Given the description of an element on the screen output the (x, y) to click on. 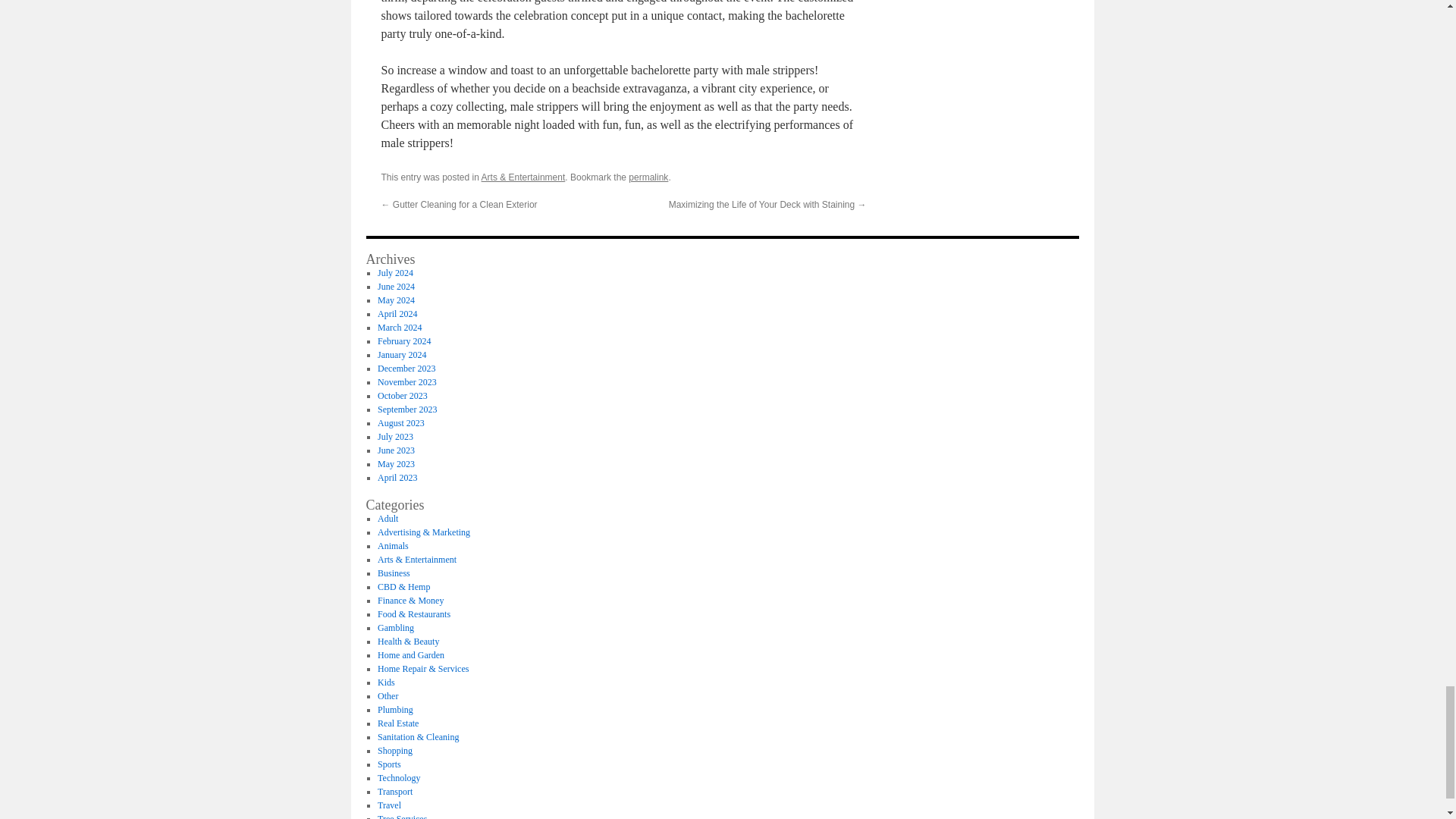
September 2023 (406, 409)
April 2023 (396, 477)
July 2023 (395, 436)
permalink (648, 176)
June 2023 (395, 450)
Animals (393, 545)
Adult (387, 518)
May 2023 (395, 463)
August 2023 (401, 422)
December 2023 (406, 368)
June 2024 (395, 286)
February 2024 (403, 340)
October 2023 (402, 395)
March 2024 (399, 327)
November 2023 (406, 381)
